Given the description of an element on the screen output the (x, y) to click on. 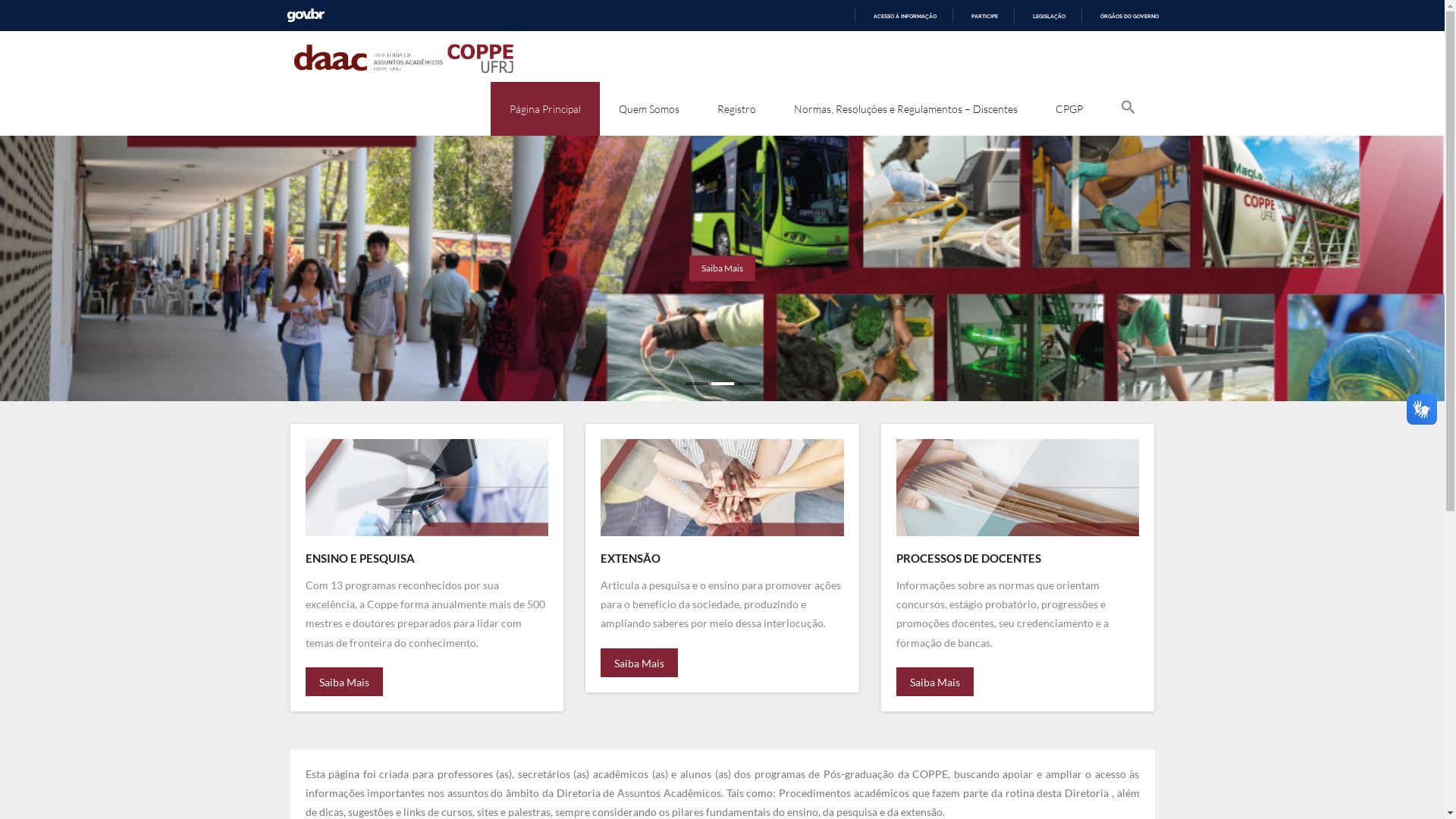
Saiba Mais Element type: text (722, 270)
Quem Somos Element type: text (648, 108)
Saiba Mais Element type: text (638, 662)
Registro Element type: text (735, 108)
GOVBR Element type: text (305, 14)
1 Element type: text (696, 383)
2 Element type: text (722, 383)
CPGP Element type: text (1068, 108)
3 Element type: text (748, 383)
Saiba Mais Element type: text (343, 681)
PARTICIPE Element type: text (977, 15)
Saiba Mais Element type: text (934, 681)
